Given the description of an element on the screen output the (x, y) to click on. 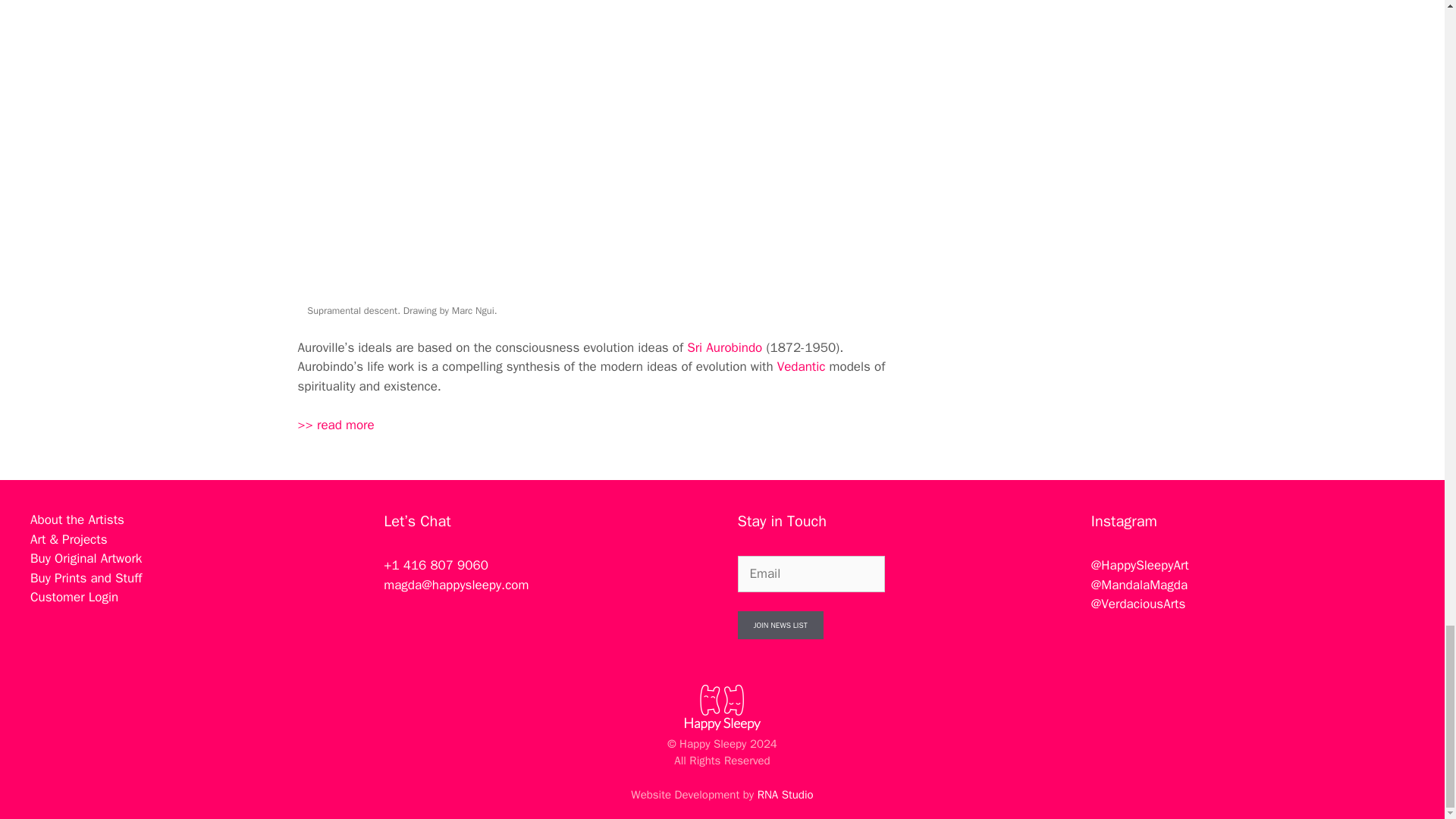
An answer to life, the universe and everything. (335, 424)
Supramental descent (496, 150)
Join News List (779, 624)
